Given the description of an element on the screen output the (x, y) to click on. 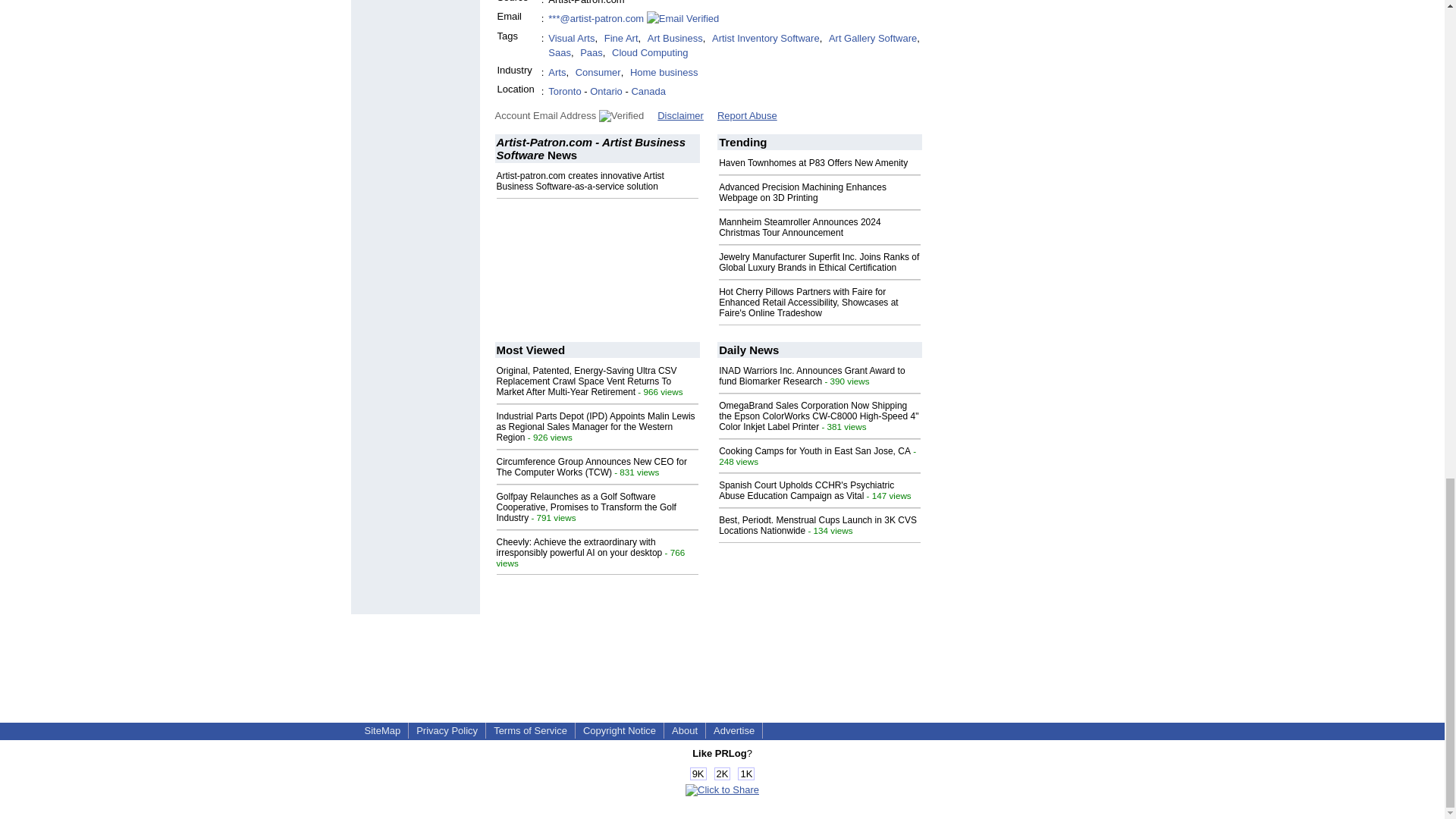
Verified (620, 115)
Share this page! (721, 789)
Email Verified (682, 18)
